Given the description of an element on the screen output the (x, y) to click on. 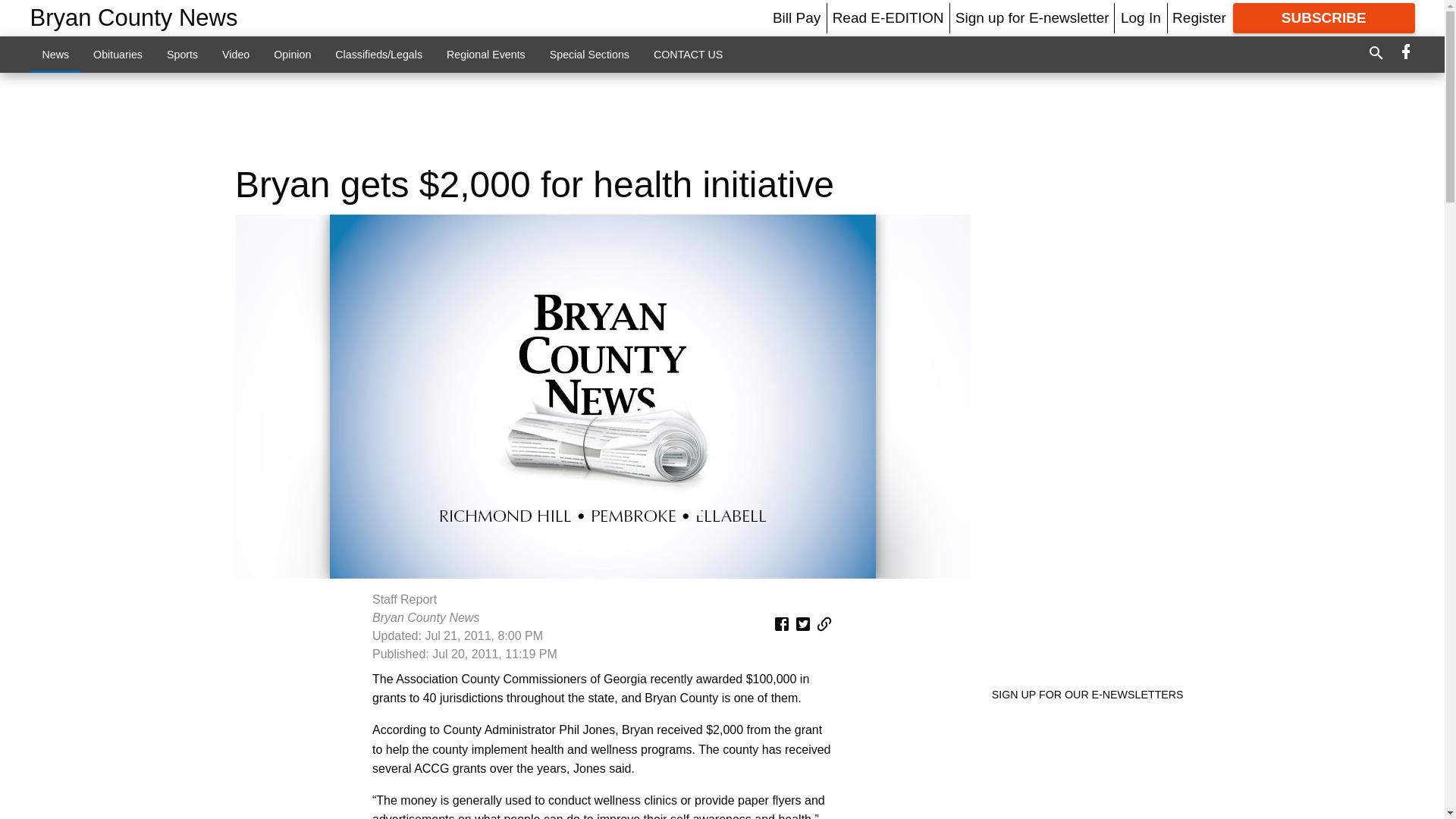
Bryan County News (134, 17)
Regional Events (485, 54)
Sign up for E-newsletter (1032, 17)
Opinion (292, 54)
SUBSCRIBE (1324, 18)
Video (235, 54)
Signup Widget Embed (1095, 763)
CONTACT US (688, 54)
Obituaries (117, 54)
Special Sections (589, 54)
Bill Pay (797, 17)
Read E-EDITION (887, 17)
Register (1198, 17)
Sports (181, 54)
News (55, 54)
